Given the description of an element on the screen output the (x, y) to click on. 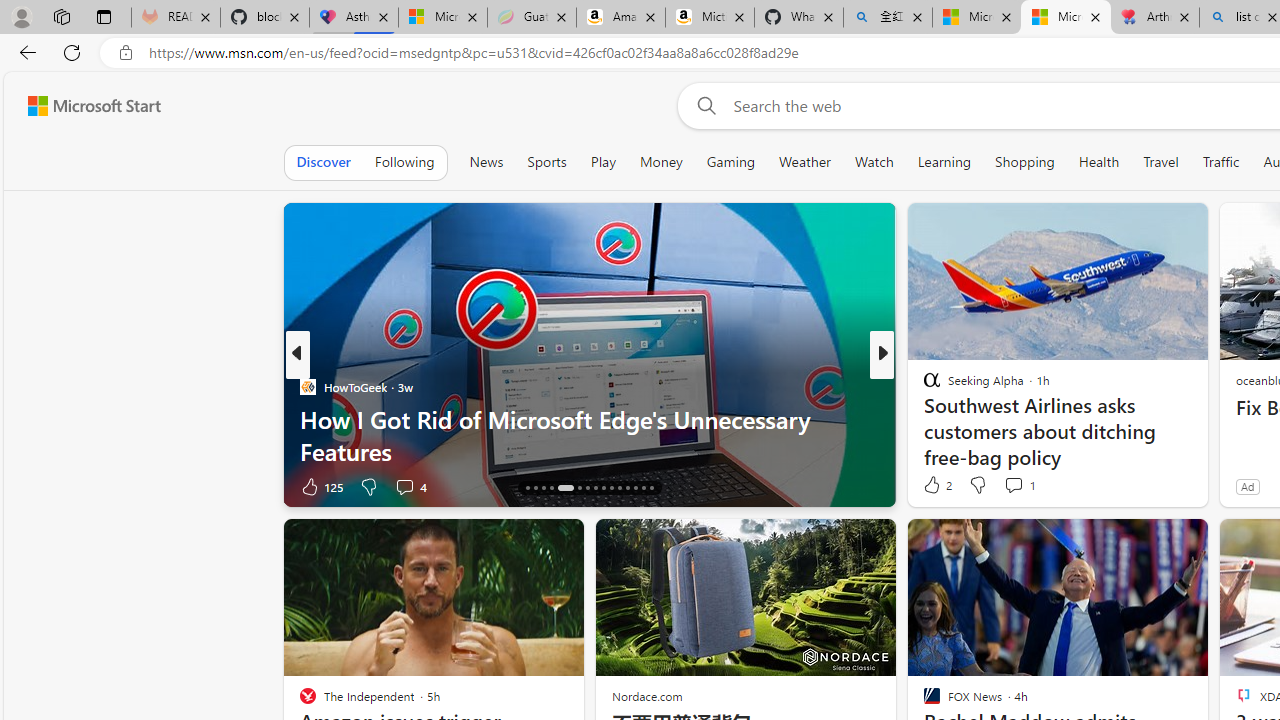
SB Nation (923, 386)
The Conversation (923, 418)
Nordace.com (646, 696)
71 Like (934, 486)
AutomationID: tab-20 (565, 487)
View comments 7 Comment (1019, 485)
